Given the description of an element on the screen output the (x, y) to click on. 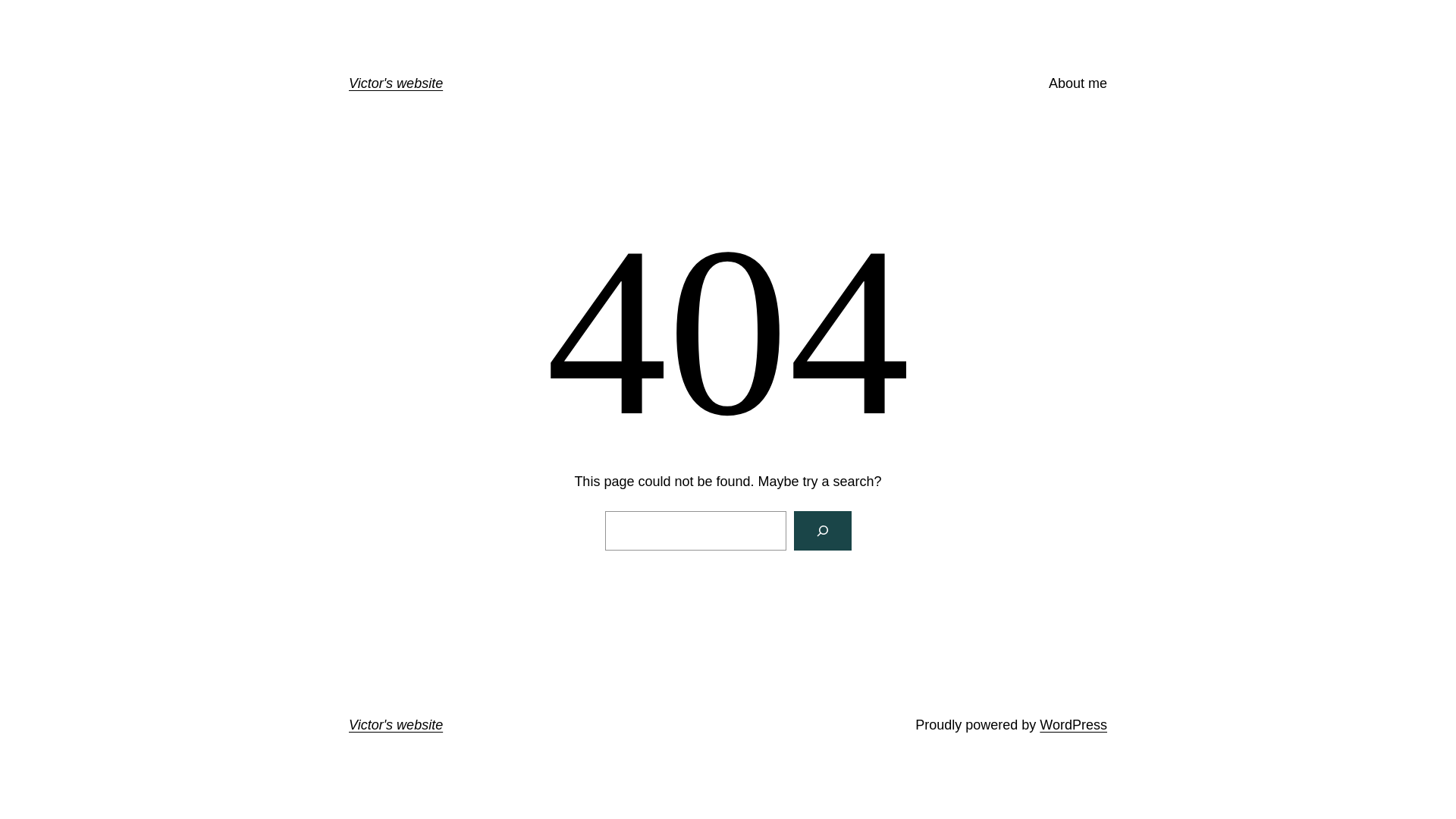
About me Element type: text (1077, 83)
Victor's website Element type: text (395, 83)
WordPress Element type: text (1073, 724)
Victor's website Element type: text (395, 724)
